Given the description of an element on the screen output the (x, y) to click on. 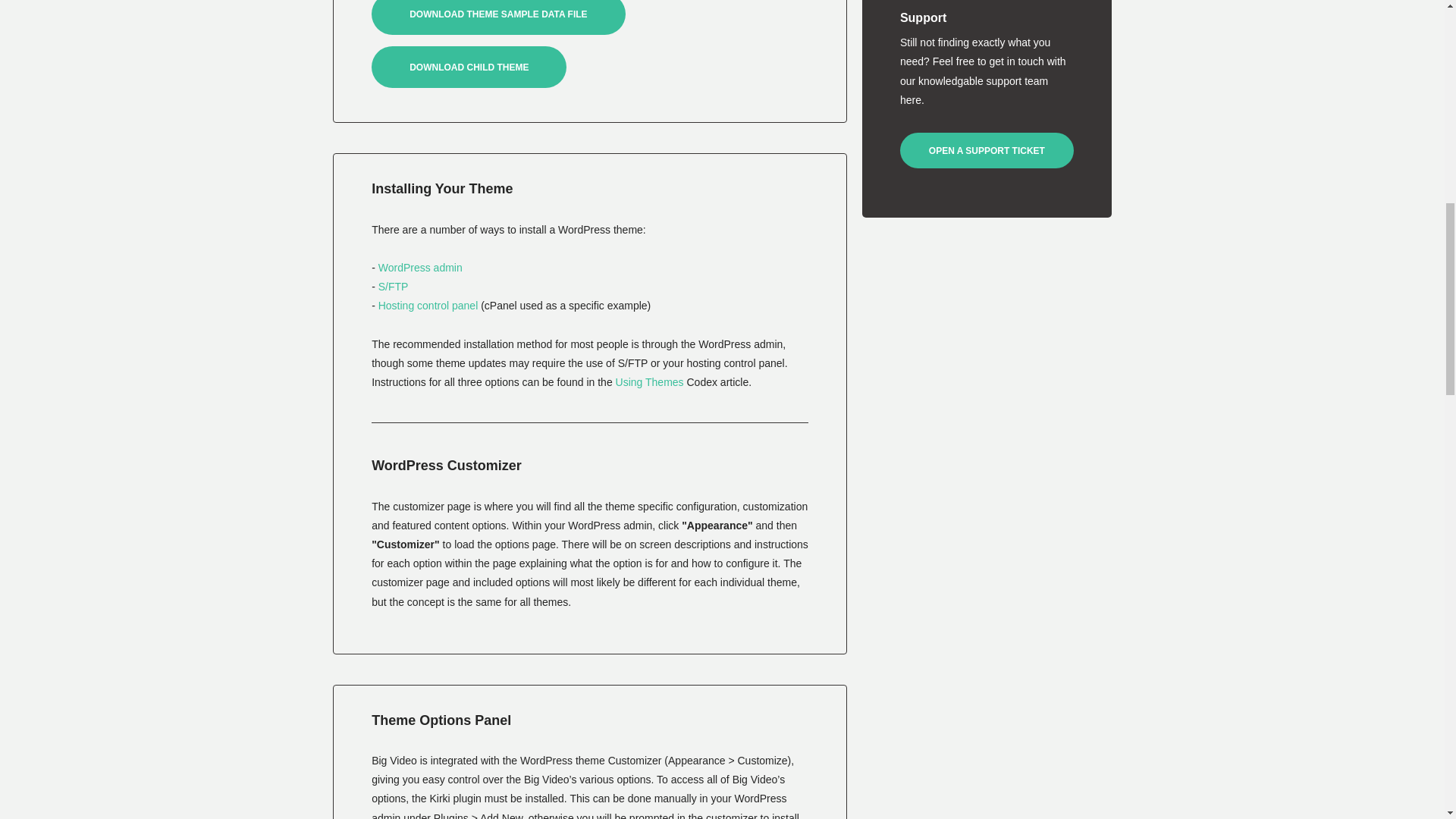
Using Themes (649, 381)
OPEN A SUPPORT TICKET (986, 150)
Hosting control panel (428, 305)
WordPress admin (420, 267)
DOWNLOAD THEME SAMPLE DATA FILE (497, 17)
DOWNLOAD CHILD THEME (468, 66)
